Given the description of an element on the screen output the (x, y) to click on. 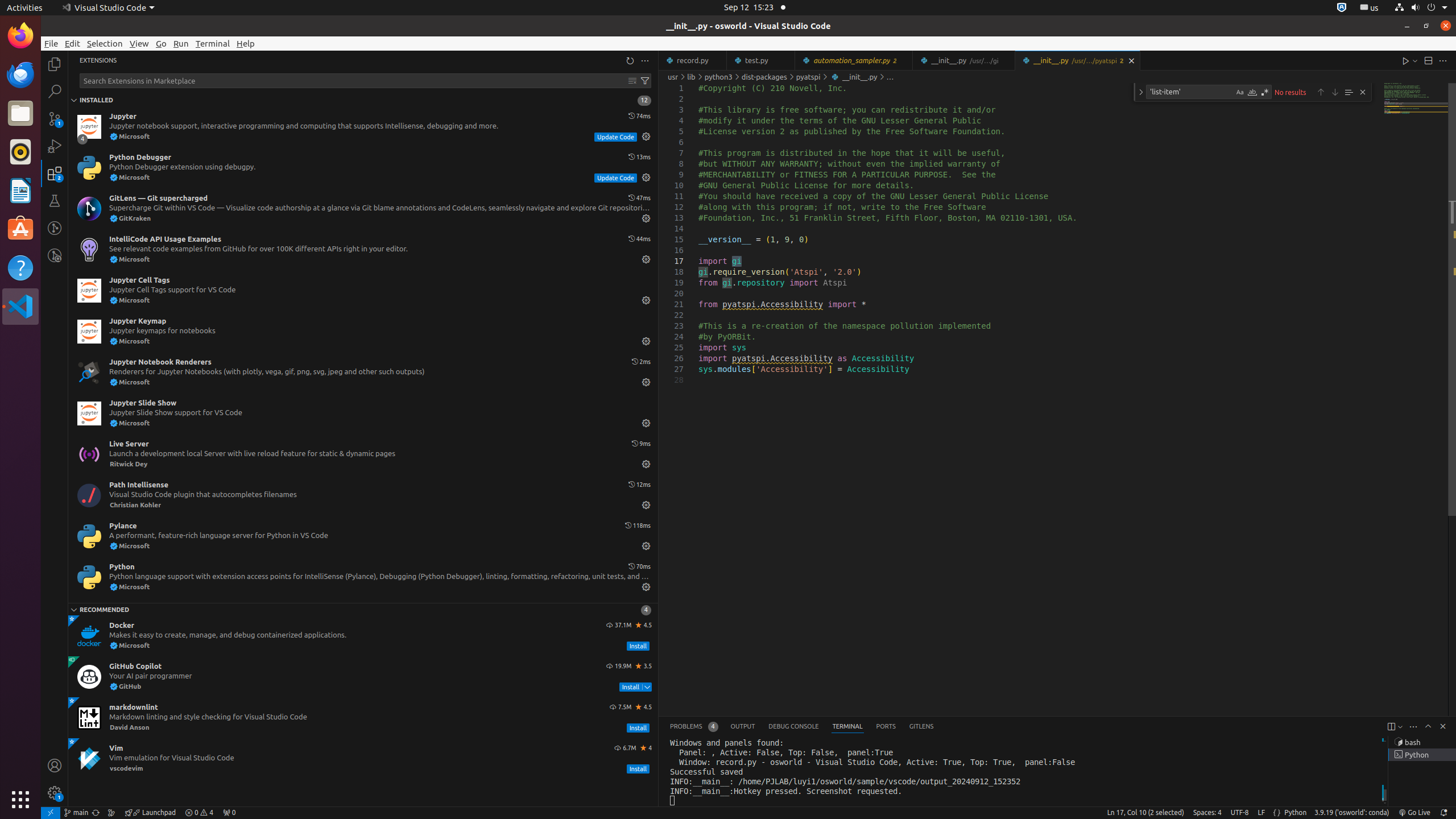
Editor Language Status: Auto Import Completions: false Element type: push-button (1277, 812)
markdownlint, 0.56.0, Publisher David Anson, Markdown linting and style checking for Visual Studio Code , Rated 4.51 out of 5 stars by 76 users Element type: list-item (363, 717)
Show the GitLens Commit Graph Element type: push-button (111, 812)
Jupyter, 2024.8.1, Verified Publisher Microsoft, Jupyter notebook support, interactive programming and computing that supports Intellisense, debugging and more. , Rated 2.71 out of 5 stars by 322 users Element type: list-item (363, 126)
